Given the description of an element on the screen output the (x, y) to click on. 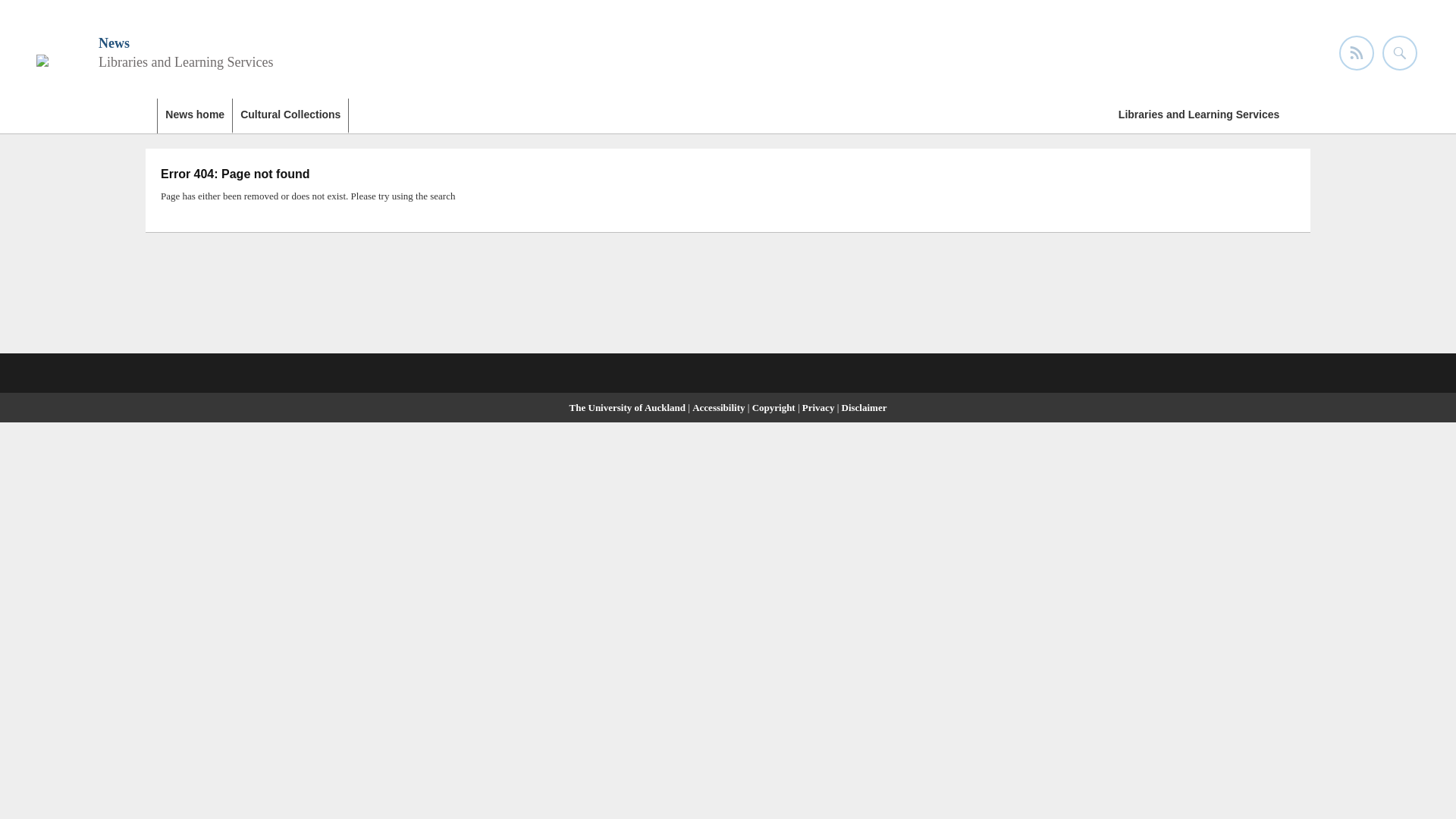
Disclaimer (863, 407)
News home (194, 115)
Search (22, 12)
Accessibility (720, 407)
Libraries and Learning Services (1198, 115)
Privacy (819, 407)
Cultural Collections (290, 115)
News (114, 43)
The University of Auckland (627, 407)
